Given the description of an element on the screen output the (x, y) to click on. 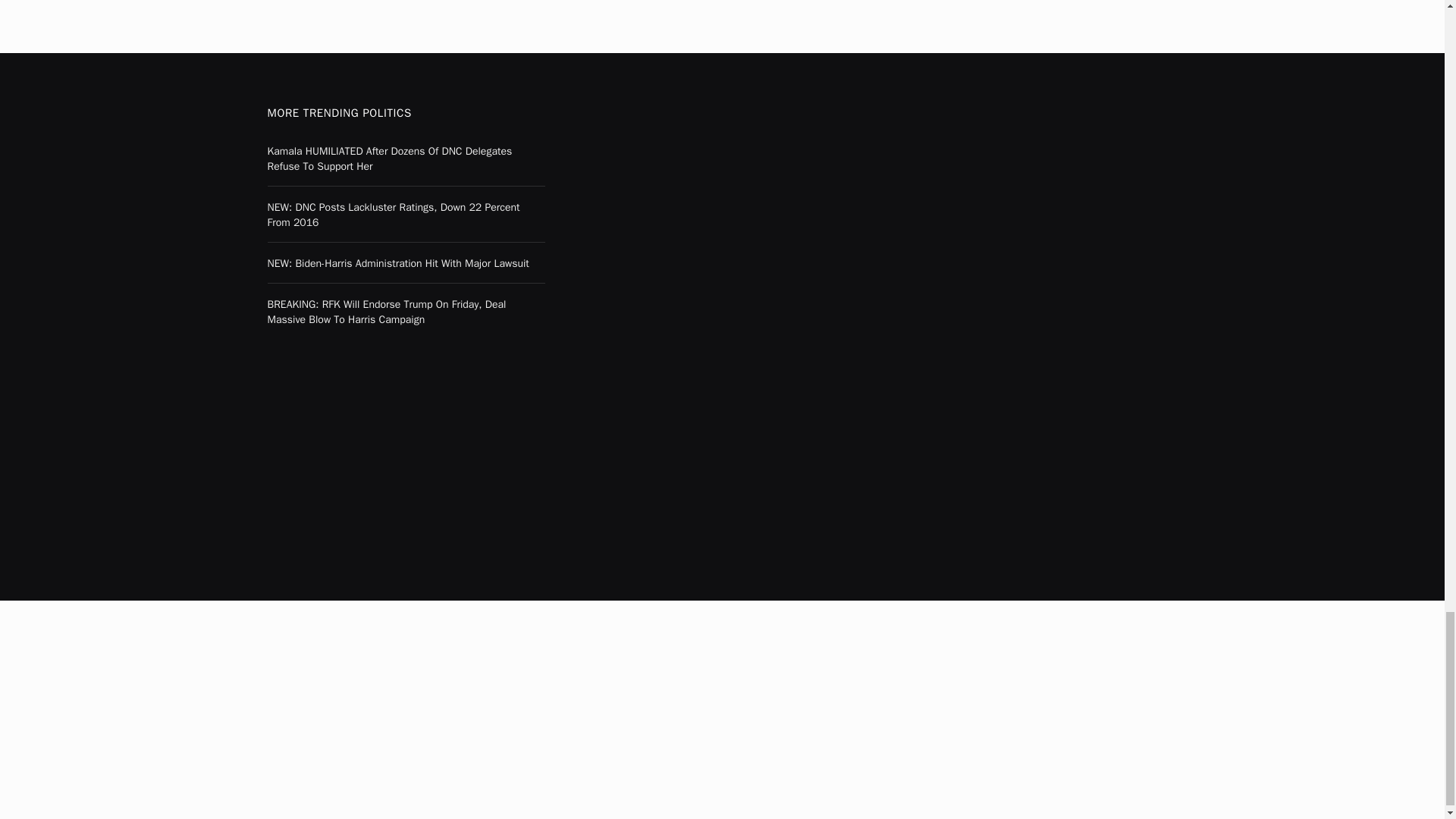
NEW: Biden-Harris Administration Hit With Major Lawsuit (405, 263)
NEW: DNC Posts Lackluster Ratings, Down 22 Percent From 2016 (405, 214)
